Given the description of an element on the screen output the (x, y) to click on. 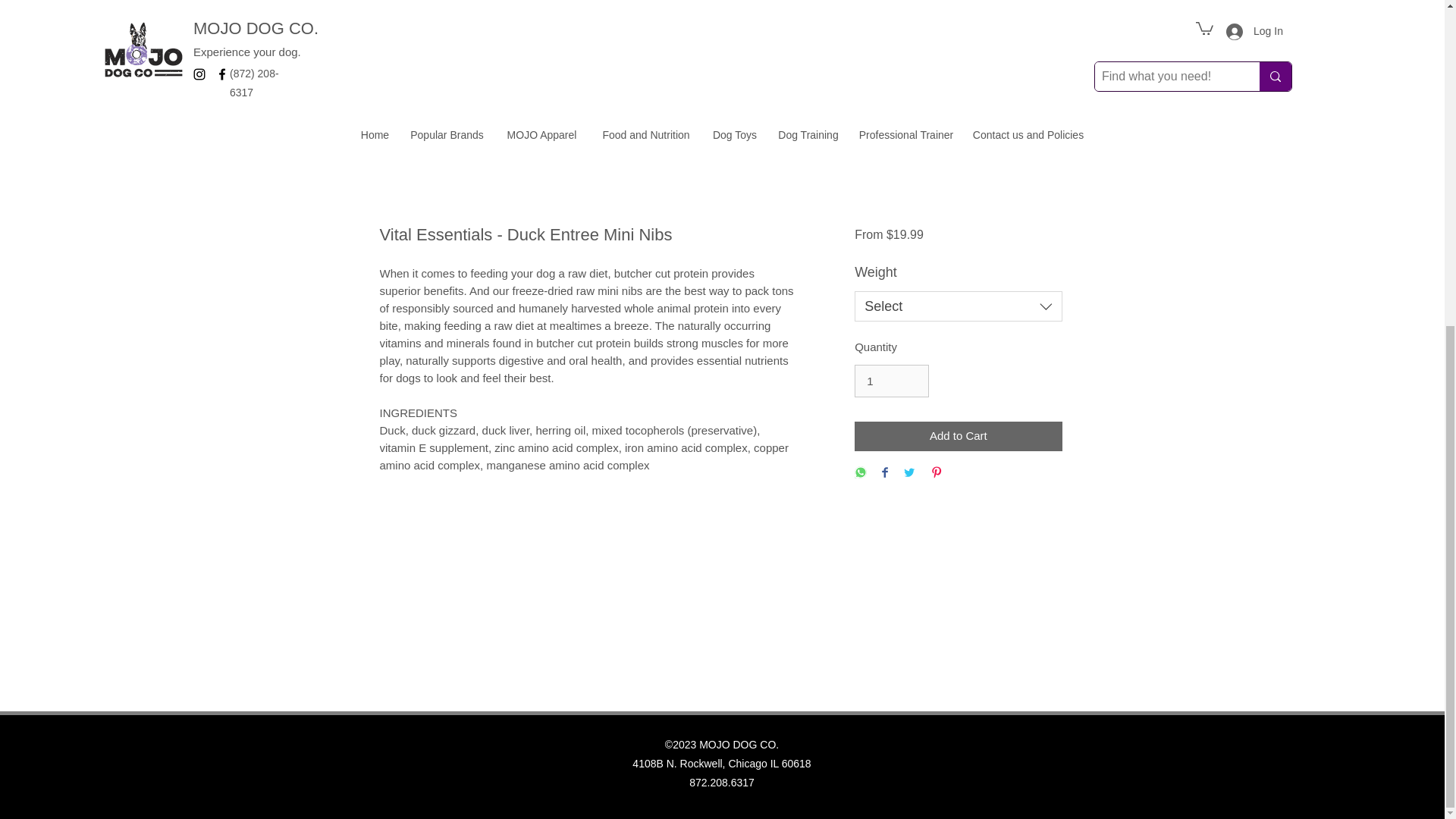
Select (957, 306)
Add to Cart (957, 436)
1 (891, 381)
